Given the description of an element on the screen output the (x, y) to click on. 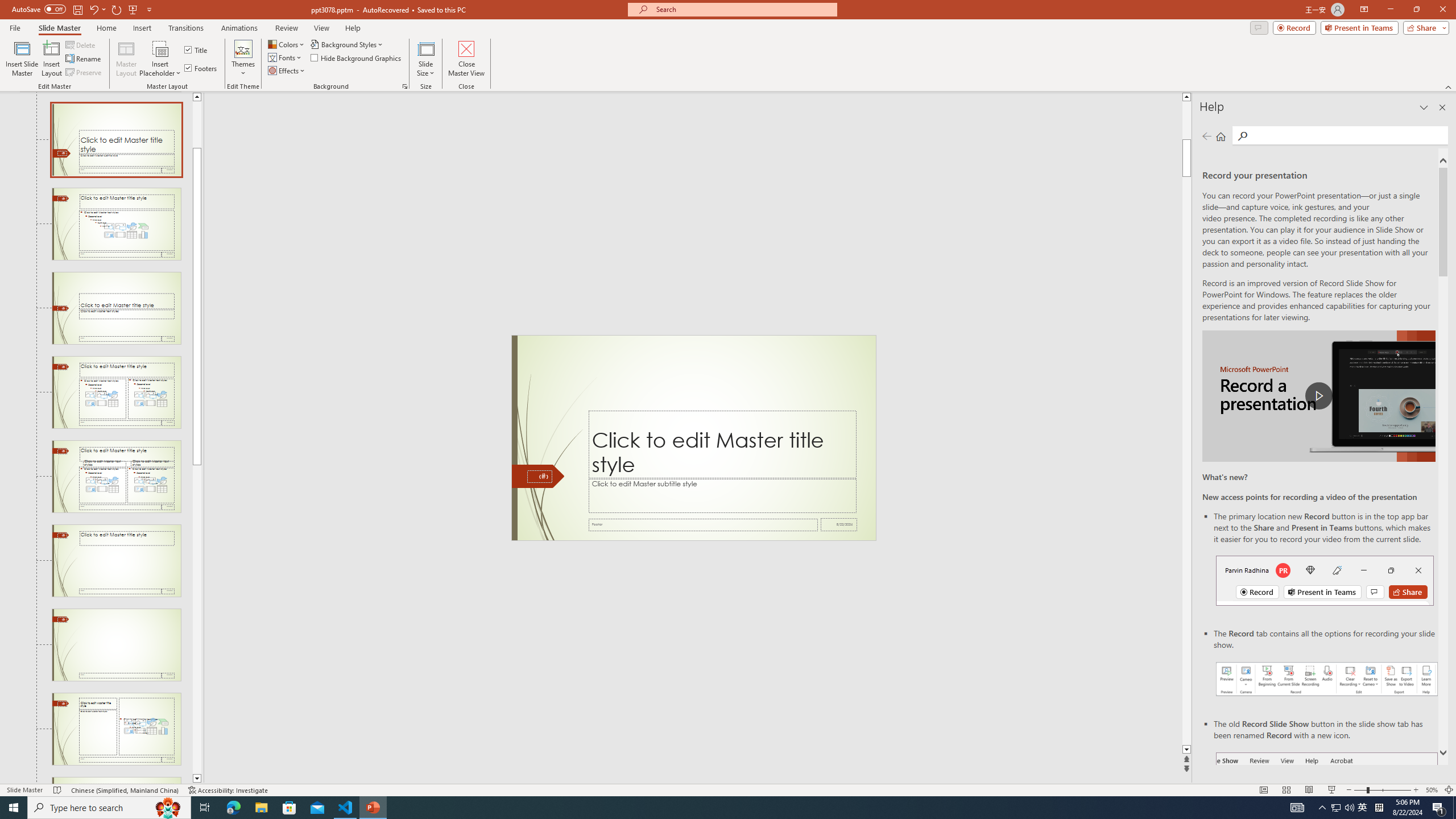
Master Layout... (126, 58)
Previous page (1206, 136)
Slide Two Content Layout: used by no slides (116, 392)
Slide Title and Content Layout: used by no slides (116, 223)
Date (839, 524)
